Given the description of an element on the screen output the (x, y) to click on. 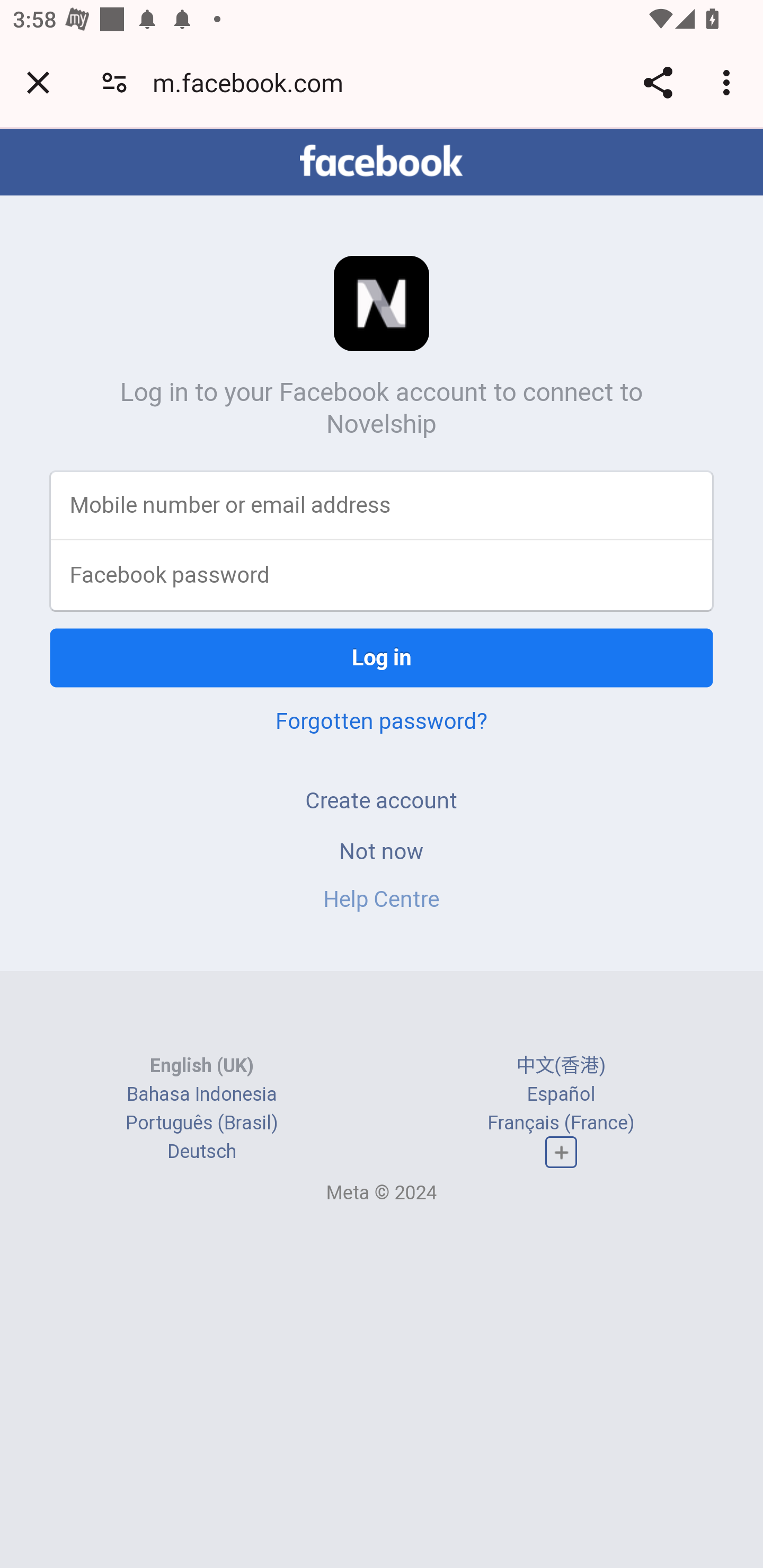
Close tab (38, 82)
Share (657, 82)
Customize and control Google Chrome (729, 82)
Connection is secure (114, 81)
m.facebook.com (254, 81)
facebook (381, 160)
Log in (381, 657)
Forgotten password? (381, 720)
Create account (381, 800)
Not now (381, 850)
Help Centre (381, 898)
中文(香港) (561, 1065)
Bahasa Indonesia (201, 1093)
Español (560, 1093)
Português (Brasil) (201, 1122)
Français (France) (560, 1122)
Complete list of languages (560, 1152)
Deutsch (201, 1151)
